Given the description of an element on the screen output the (x, y) to click on. 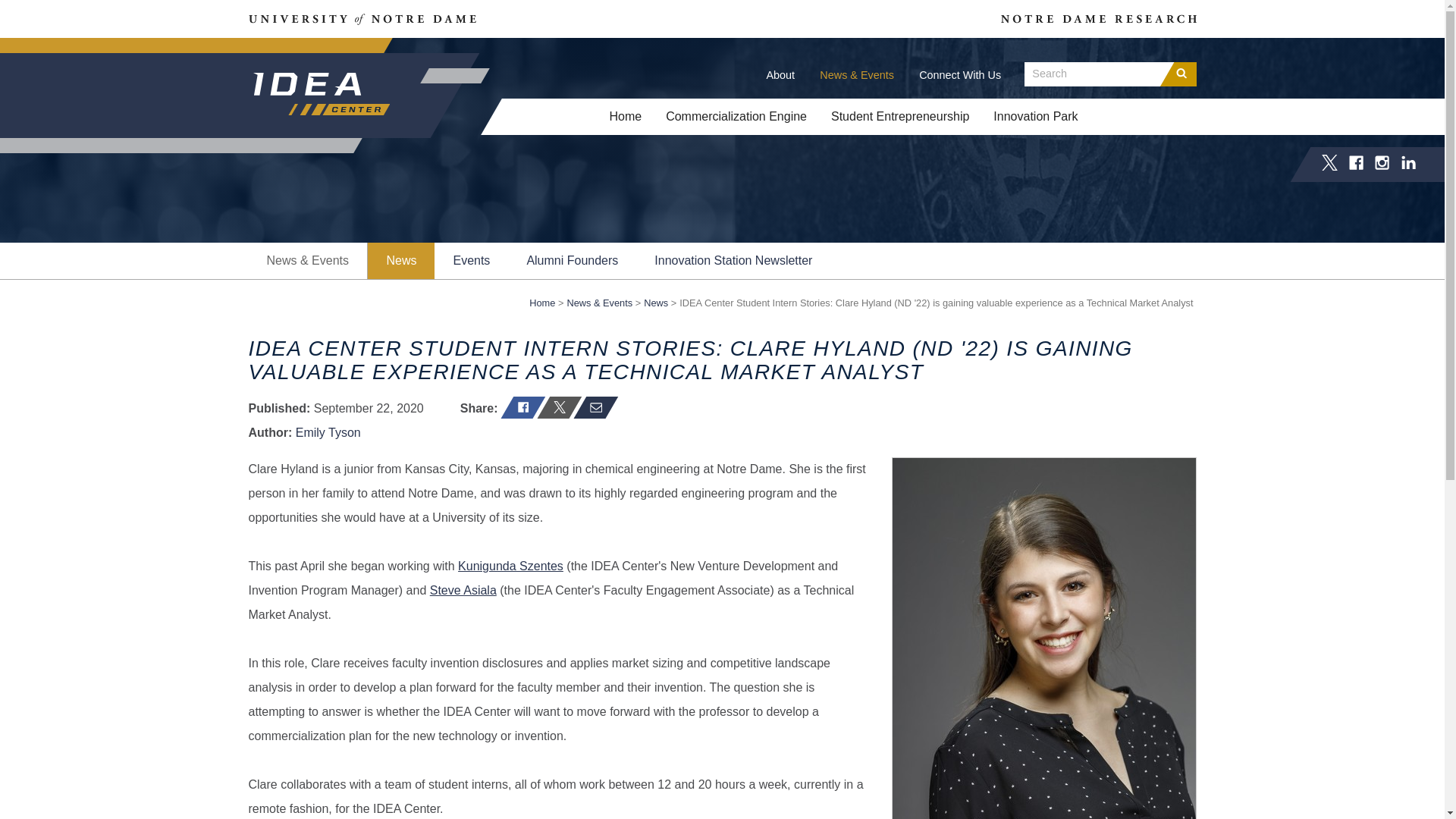
Home (541, 302)
Notre Dame Research (1098, 18)
Events (470, 260)
linkedin (1408, 164)
About (780, 74)
Email (589, 407)
twitter-x (1330, 164)
Home (624, 116)
Alumni Founders (572, 260)
facebook-official (1356, 164)
Student Entrepreneurship (899, 116)
facebook-official (1356, 162)
instagram (1382, 164)
News (400, 260)
Innovation Park (1035, 116)
